Given the description of an element on the screen output the (x, y) to click on. 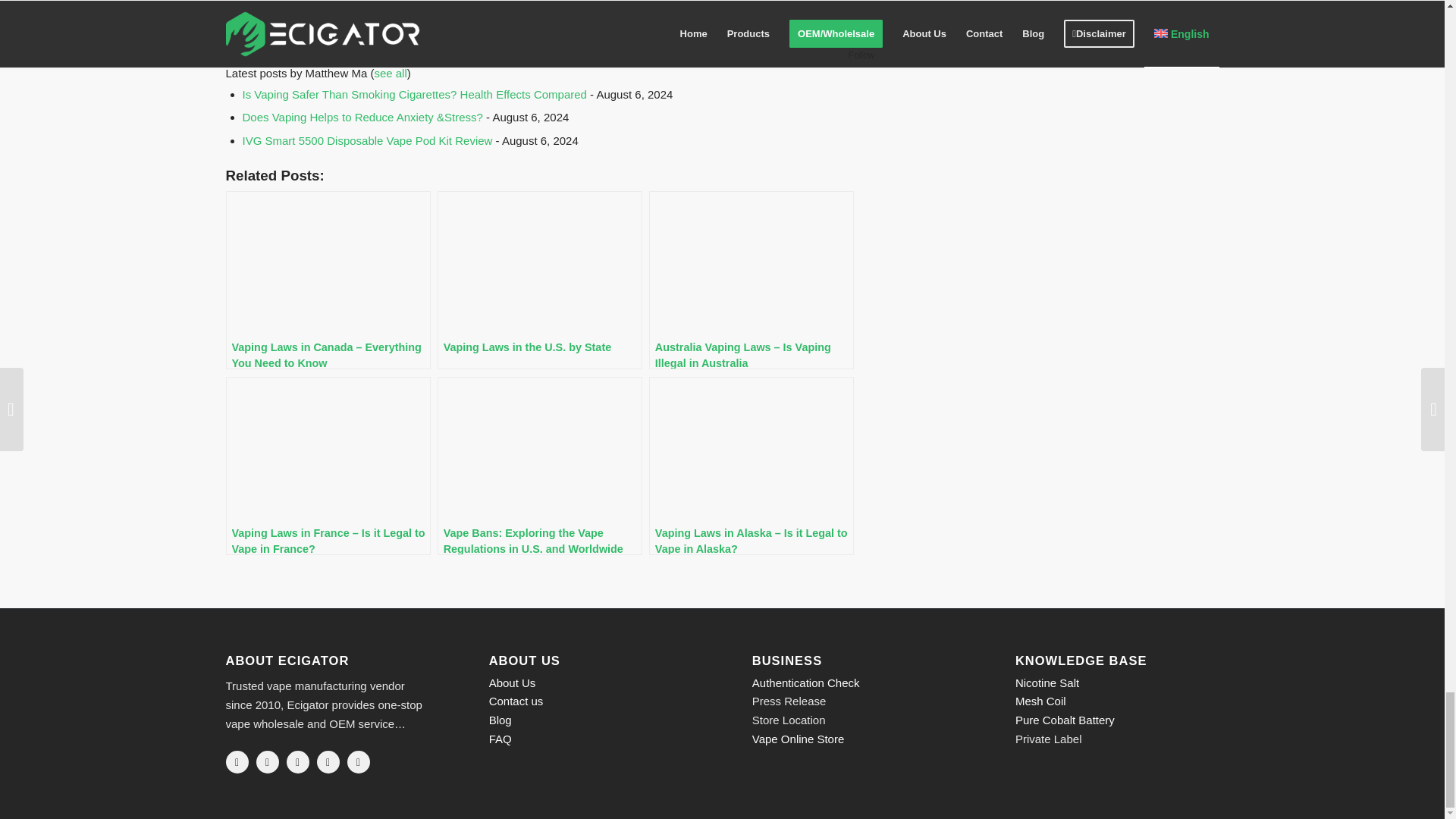
Vaping Laws in the U.S. by State (540, 279)
IVG Smart 5500 Disposable Vape Pod Kit Review (368, 140)
see all (390, 72)
Matthew Ma (319, 37)
Vaping Laws in Mexico - Is It Legal to Vape in Mexico? 9 (319, 20)
